Given the description of an element on the screen output the (x, y) to click on. 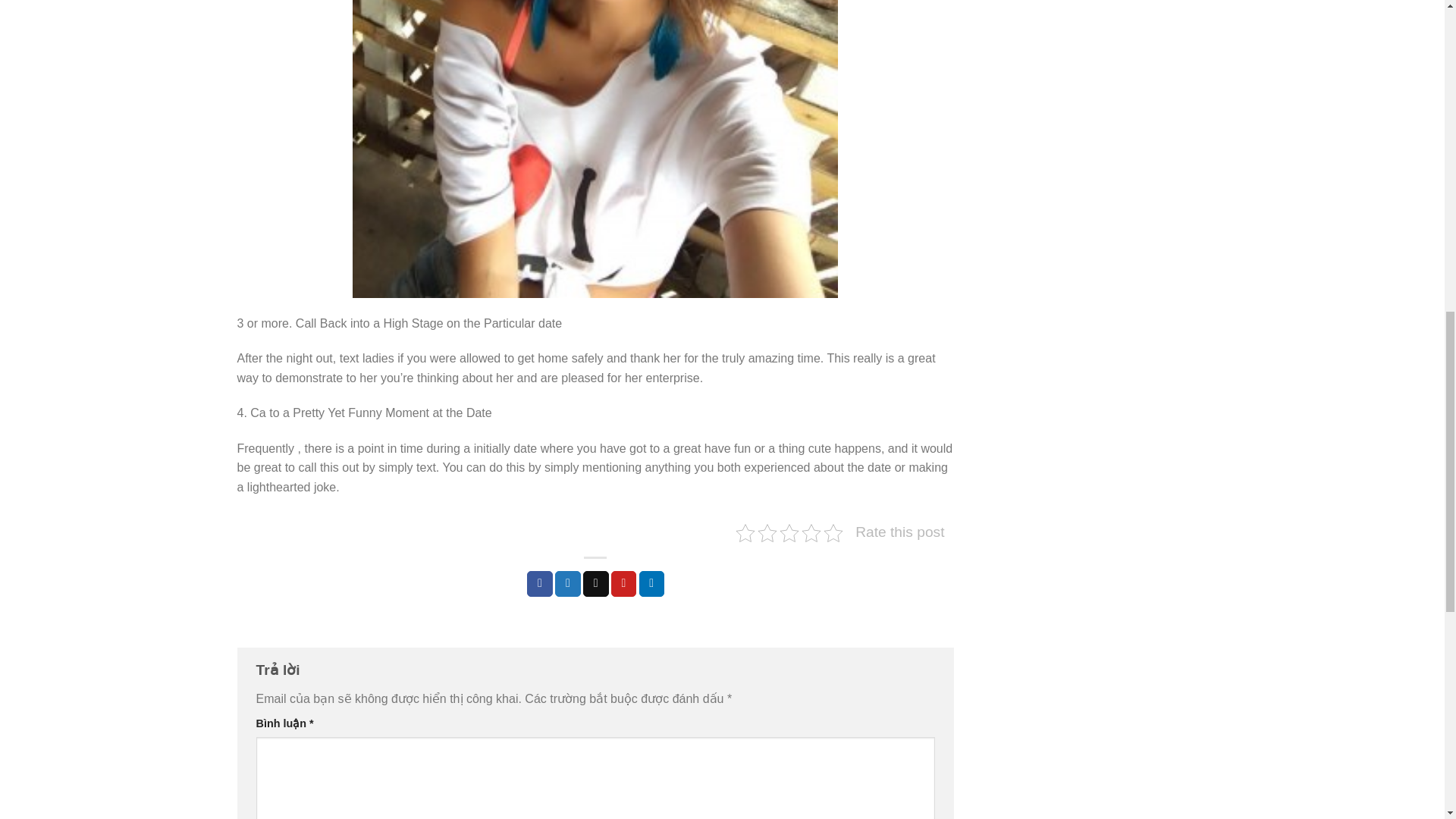
Share on Twitter (567, 583)
Email to a Friend (595, 583)
Share on Facebook (540, 583)
Share on LinkedIn (652, 583)
Pin on Pinterest (624, 583)
